Given the description of an element on the screen output the (x, y) to click on. 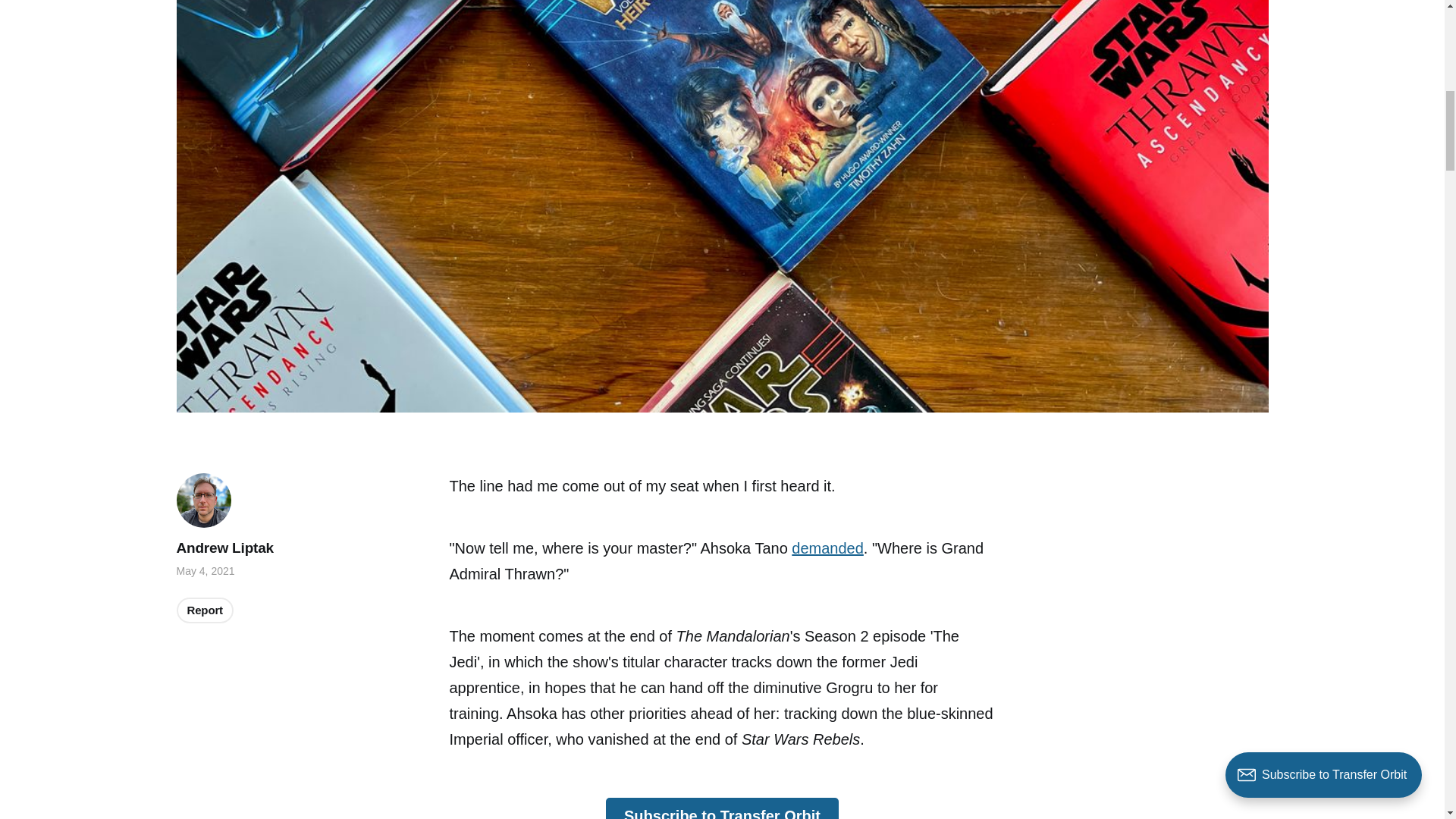
demanded (827, 547)
Andrew Liptak (224, 547)
Subscribe to Transfer Orbit (721, 808)
Report (204, 610)
